Given the description of an element on the screen output the (x, y) to click on. 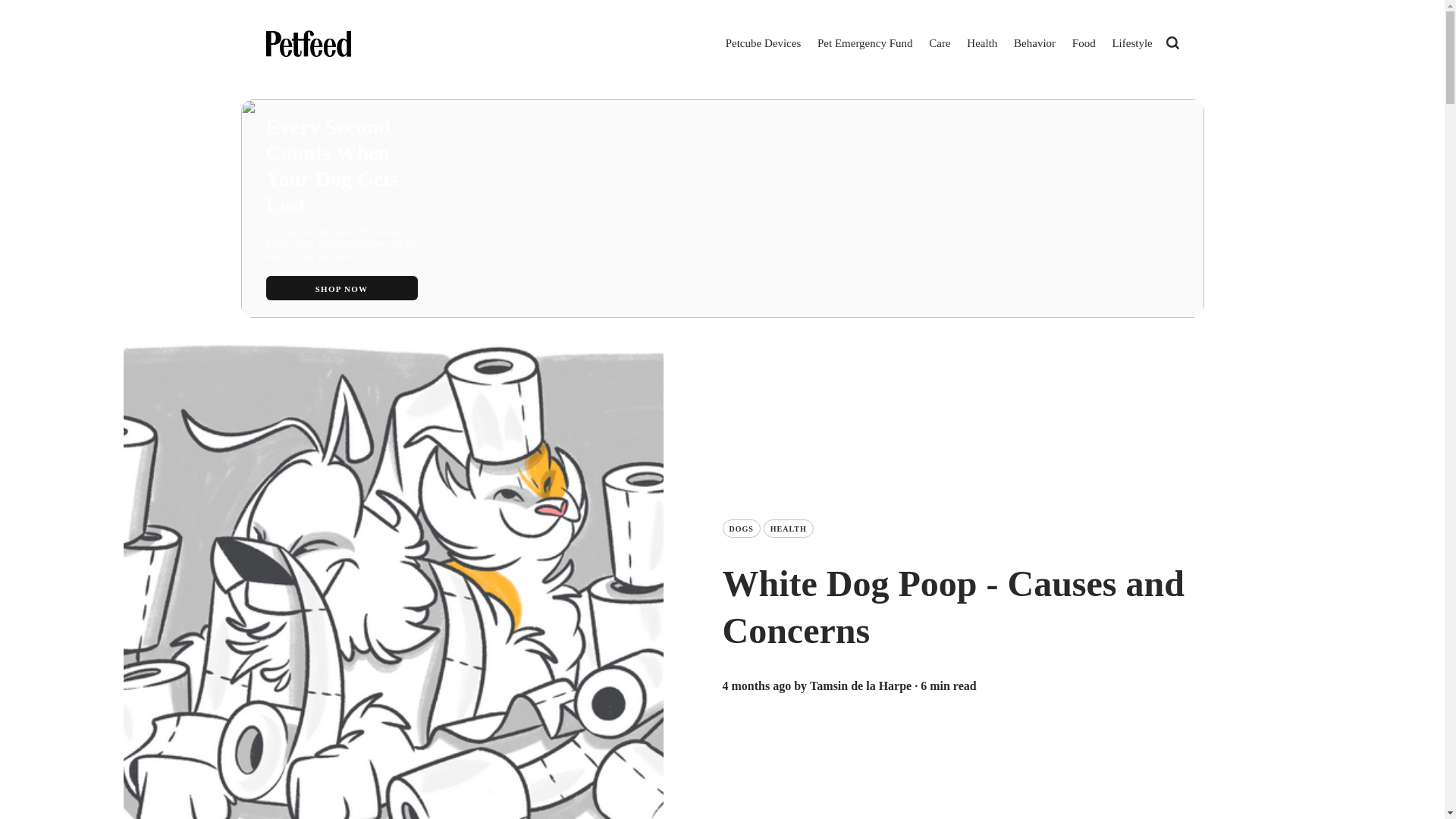
Food (1083, 43)
Petcube Devices (763, 43)
HEALTH (787, 528)
Pet Emergency Fund (864, 43)
Health (981, 43)
Care (939, 43)
Behavior (1034, 43)
DOGS (741, 528)
Lifestyle (1131, 43)
